Given the description of an element on the screen output the (x, y) to click on. 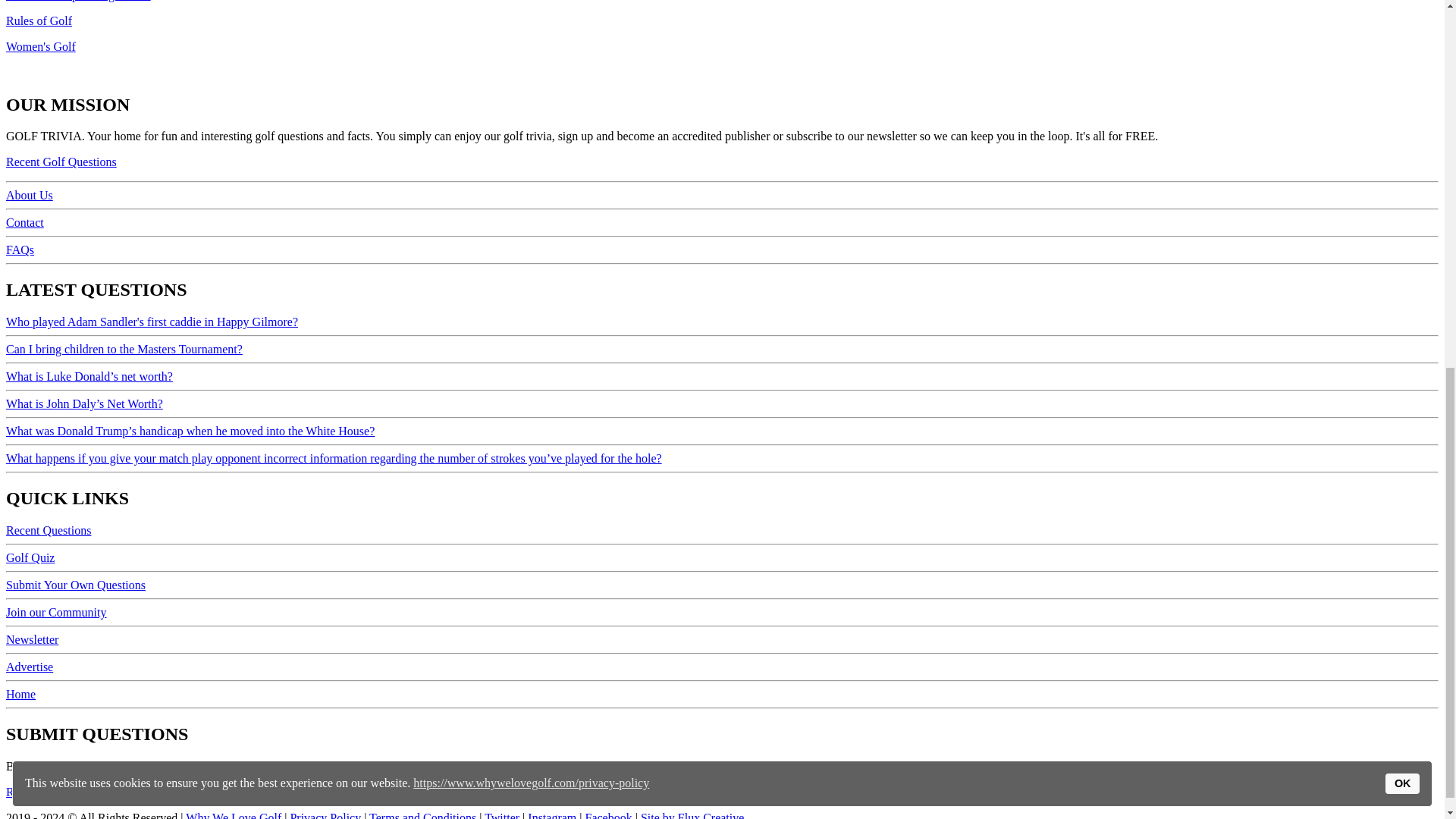
OK (1402, 105)
